Given the description of an element on the screen output the (x, y) to click on. 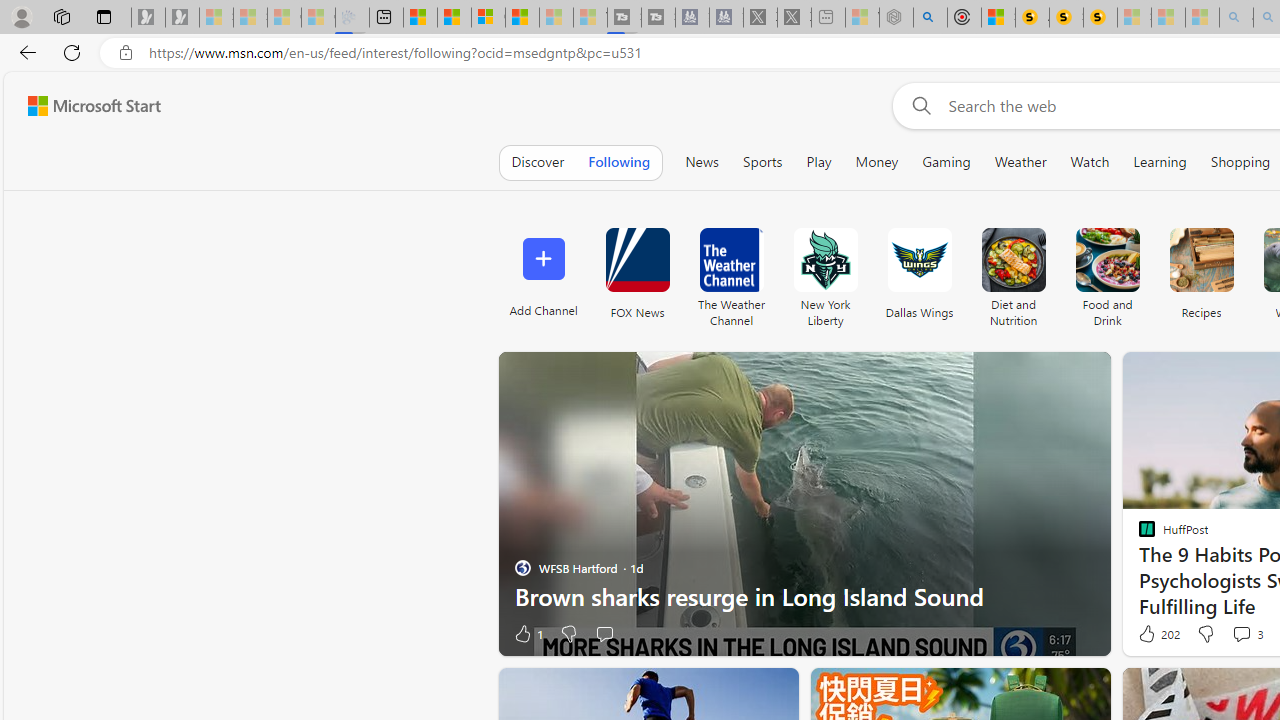
New York Liberty (824, 272)
New York Liberty (825, 260)
1 Like (527, 633)
Overview (488, 17)
